Given the description of an element on the screen output the (x, y) to click on. 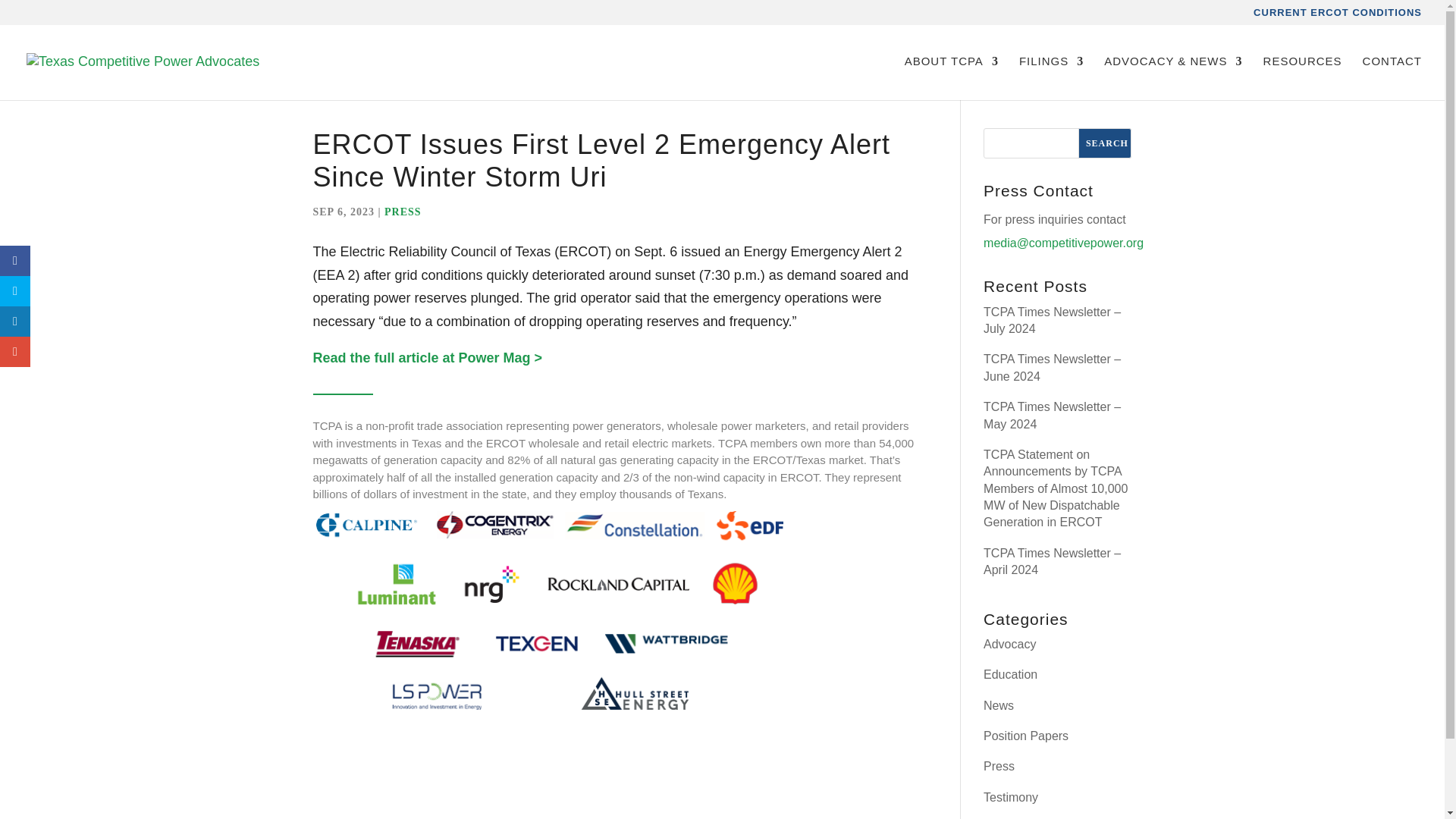
CONTACT (1392, 77)
Press (999, 766)
CURRENT ERCOT CONDITIONS (1337, 16)
Advocacy (1009, 644)
News (998, 705)
RESOURCES (1302, 77)
ABOUT TCPA (951, 77)
Testimony (1011, 797)
Position Papers (1026, 735)
